Given the description of an element on the screen output the (x, y) to click on. 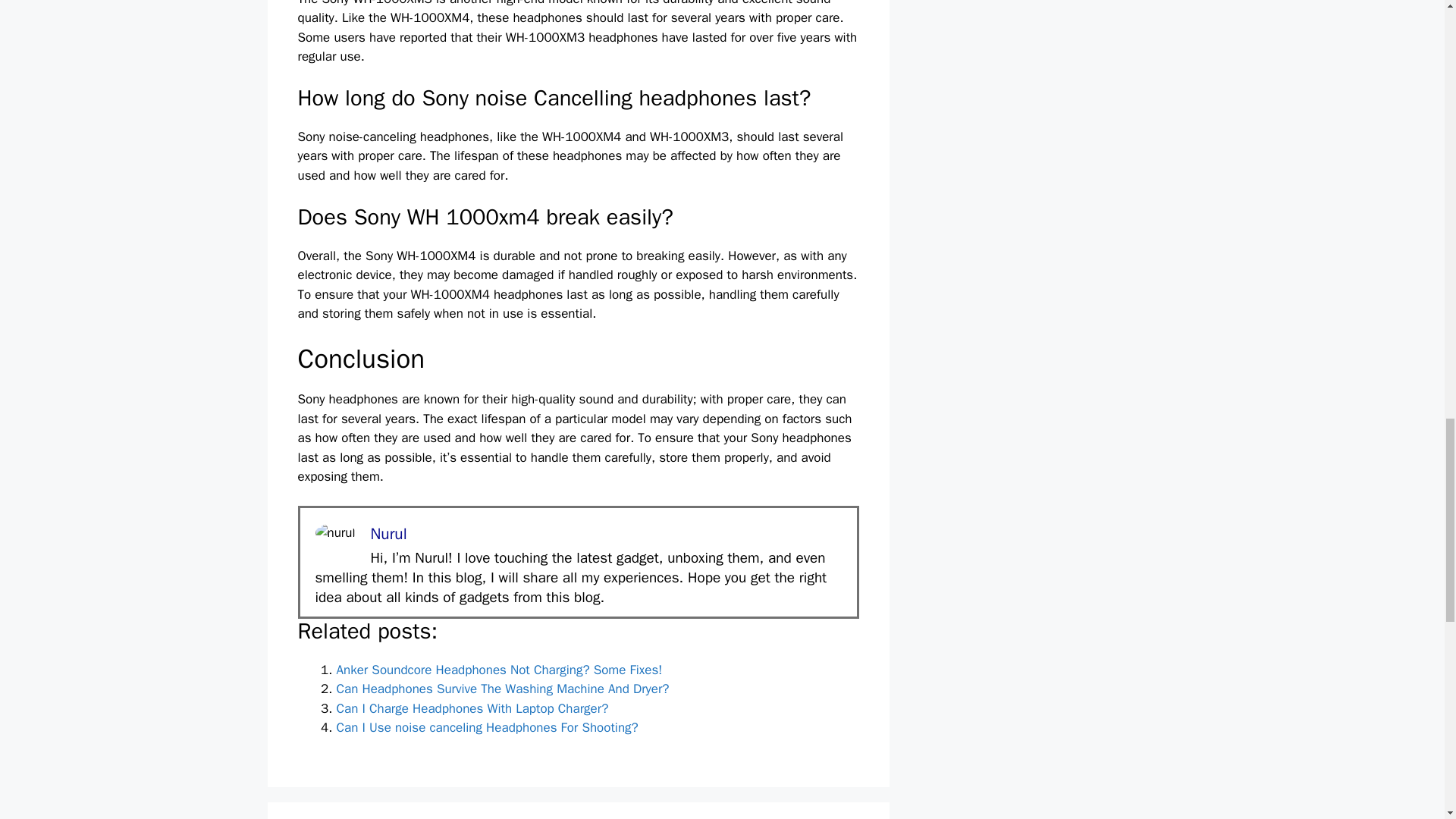
Can I Charge Headphones With Laptop Charger? (472, 708)
Nurul (387, 533)
Can Headphones Survive The Washing Machine And Dryer? (502, 688)
Can I Charge Headphones With Laptop Charger? (472, 708)
Can Headphones Survive The Washing Machine And Dryer? (502, 688)
Anker Soundcore Headphones Not Charging? Some Fixes! (499, 669)
Can I Use noise canceling Headphones For Shooting? (487, 727)
Anker Soundcore Headphones Not Charging? Some Fixes! (499, 669)
Can I Use noise canceling Headphones For Shooting? (487, 727)
